Given the description of an element on the screen output the (x, y) to click on. 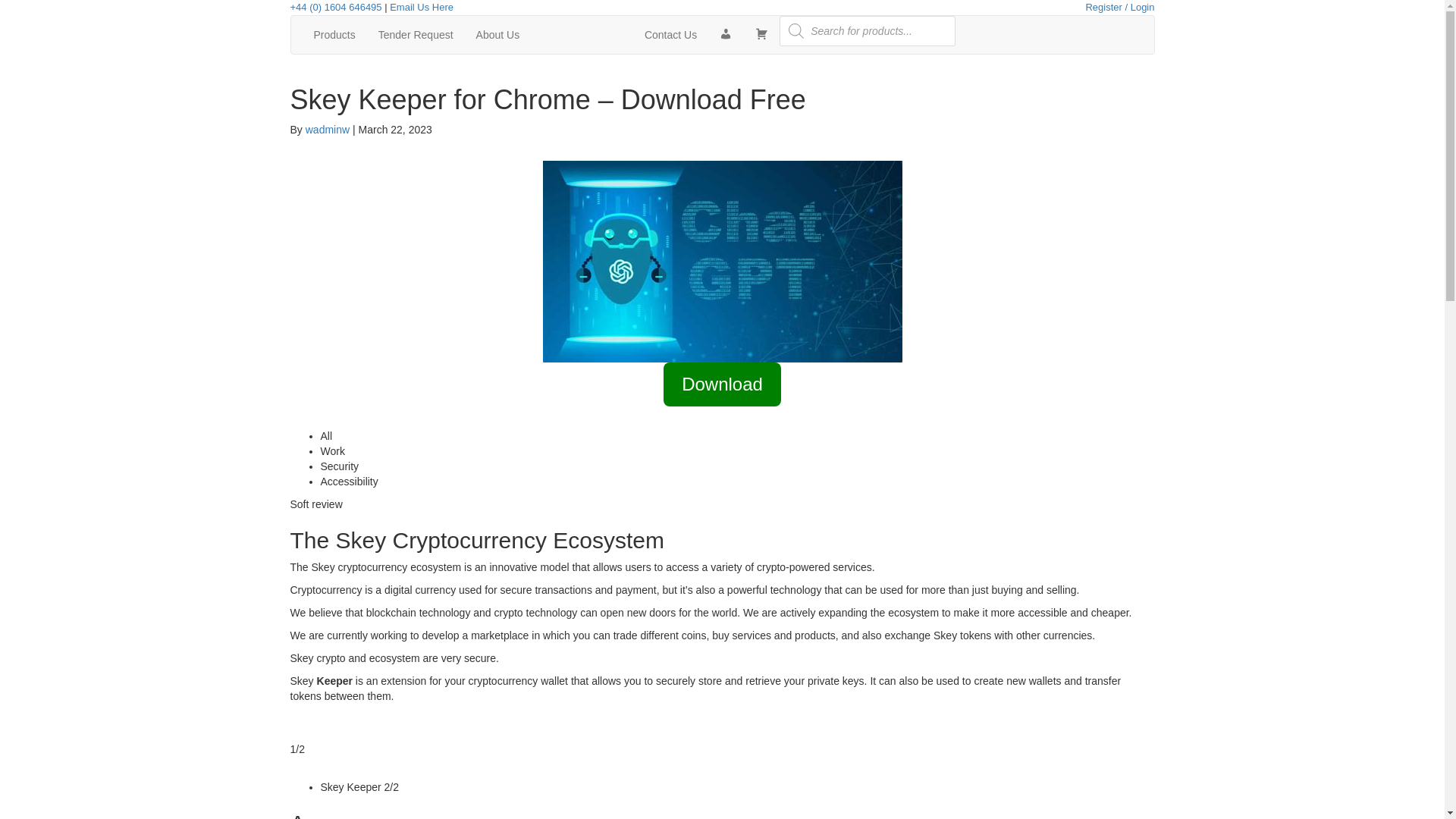
Your Basket (761, 34)
About Us (497, 34)
Download (721, 384)
wadminw (327, 129)
Tender Request (415, 34)
Email Us Here (421, 7)
Download (721, 390)
Account (725, 34)
Contact Us (670, 34)
Products (333, 34)
